Given the description of an element on the screen output the (x, y) to click on. 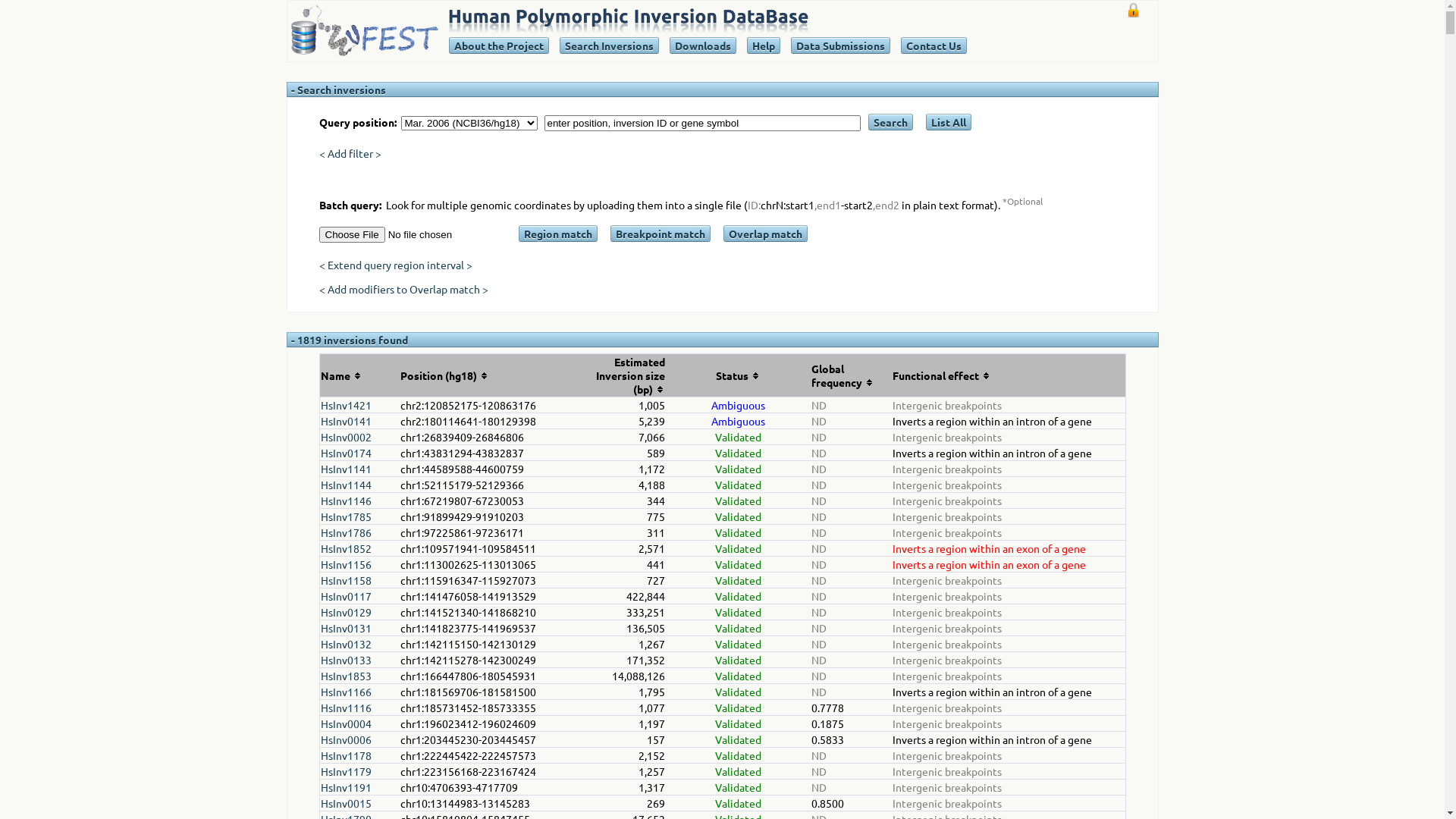
HsInv1156 Element type: text (345, 564)
HsInv1191 Element type: text (345, 786)
HsInv1179 Element type: text (345, 771)
List All Element type: text (948, 121)
Contact Us Element type: text (933, 45)
HsInv1178 Element type: text (345, 755)
Search Element type: text (890, 121)
Contact Us Element type: text (932, 45)
Login Element type: hover (1132, 9)
About the Project Element type: text (497, 45)
List All Element type: text (947, 121)
HsInv0129 Element type: text (345, 611)
HsInv1146 Element type: text (345, 500)
Overlap match Element type: text (765, 233)
Search Element type: text (889, 121)
< Extend query region interval > Element type: text (394, 264)
HsInv0015 Element type: text (345, 802)
Breakpoint match Element type: text (659, 233)
Help Element type: text (762, 45)
HsInv1852 Element type: text (345, 548)
HsInv1144 Element type: text (345, 484)
Help Element type: text (763, 45)
HsInv1116 Element type: text (345, 707)
HsInv0133 Element type: text (345, 659)
Data Submissions Element type: text (839, 45)
Search Inversions Element type: text (608, 45)
< Add modifiers to Overlap match > Element type: text (402, 288)
Downloads Element type: text (702, 45)
Search Inversions Element type: text (608, 45)
< Add filter > Element type: text (349, 153)
HsInv0132 Element type: text (345, 643)
HsInv1158 Element type: text (345, 579)
HsInv1141 Element type: text (345, 468)
HsInv0006 Element type: text (345, 739)
HsInv1166 Element type: text (345, 691)
HsInv1853 Element type: text (345, 675)
Downloads Element type: text (701, 45)
HsInv0141 Element type: text (345, 420)
Data Submissions Element type: text (840, 45)
HsInv0002 Element type: text (345, 436)
About the Project Element type: text (498, 45)
HsInv0117 Element type: text (345, 595)
HsInv0174 Element type: text (345, 452)
HsInv0131 Element type: text (345, 627)
HsInv0004 Element type: text (345, 723)
Region match Element type: text (557, 233)
HsInv1786 Element type: text (345, 532)
HsInv1785 Element type: text (345, 516)
HsInv1421 Element type: text (345, 404)
